Given the description of an element on the screen output the (x, y) to click on. 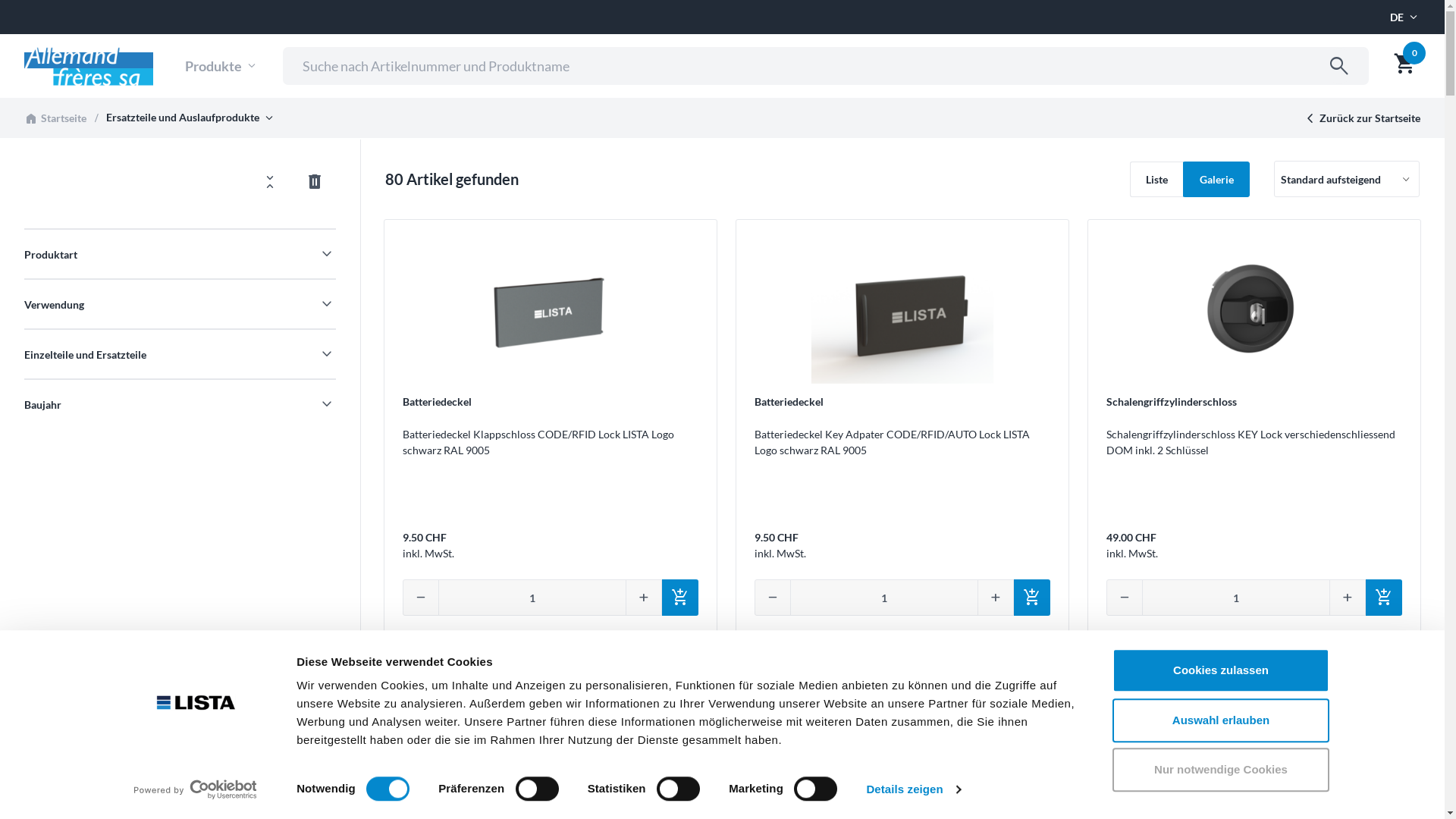
Batteriedeckel 19.588.000 Element type: hover (550, 310)
Lista AG Element type: hover (88, 65)
Nur notwendige Cookies Element type: text (1219, 769)
Datenschutz Element type: text (1167, 804)
Lieferbedingungen Element type: text (1259, 804)
Kontakt und Support Element type: text (1370, 804)
Schalengriffzylinderschloss 58.072.000 Element type: hover (902, 743)
Details zeigen Element type: text (913, 789)
Auswahl erlauben Element type: text (1219, 720)
home
Startseite Element type: text (55, 117)
Batteriedeckel Element type: text (436, 401)
Cookies zulassen Element type: text (1219, 670)
Schalengriffzylinderschloss Element type: text (1171, 401)
Impressum Element type: text (1053, 804)
Schalengriffzylinderschloss 58.063.000 Element type: hover (1254, 310)
Batteriedeckel 19.595.000 Element type: hover (902, 310)
Batteriedeckel Element type: text (788, 401)
Schalengriffzylinderschloss 58.066.000 Element type: hover (550, 743)
AGB Element type: text (1109, 804)
Schalengriffzylinderschloss 58.075.000 Element type: hover (1254, 743)
